Given the description of an element on the screen output the (x, y) to click on. 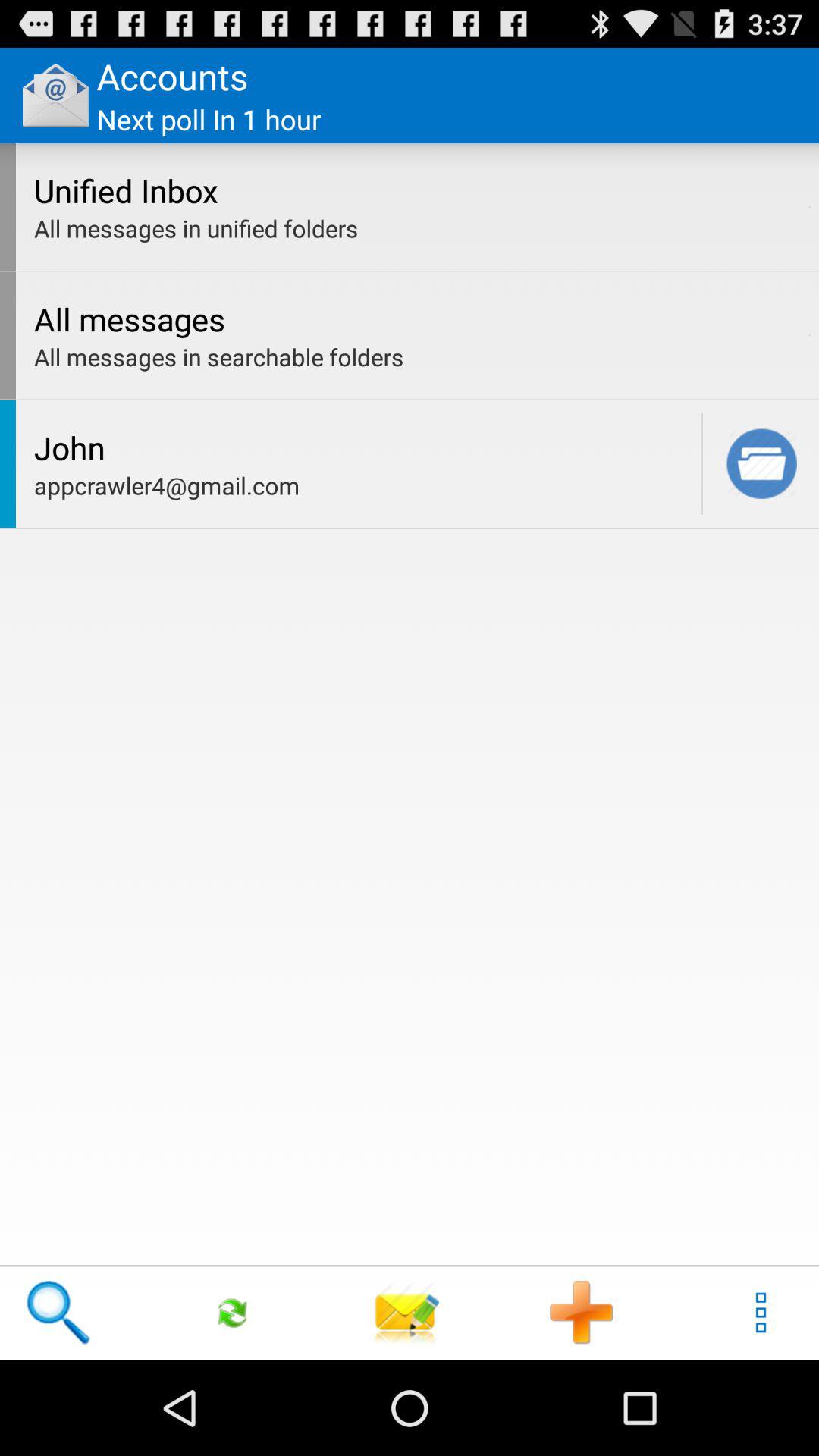
open the appcrawler4@gmail.com (363, 485)
